Given the description of an element on the screen output the (x, y) to click on. 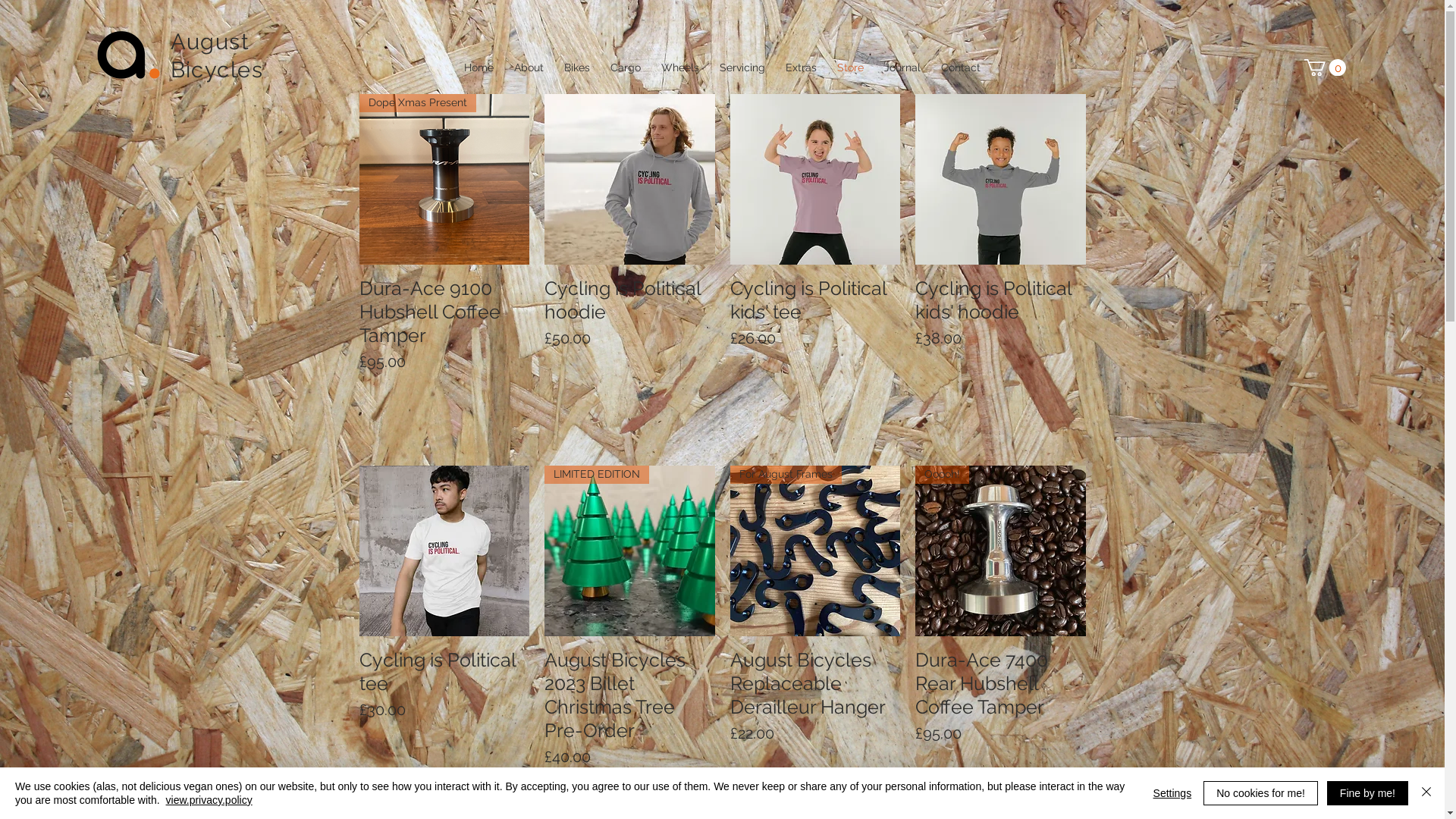
Cargo Element type: text (625, 67)
LIMITED EDITION Element type: text (629, 550)
Wheels Element type: text (679, 67)
Extras Element type: text (800, 67)
Fine by me! Element type: text (1367, 793)
Bikes Element type: text (576, 67)
view.privacy.policy Element type: text (209, 799)
No cookies for me! Element type: text (1260, 793)
Store Element type: text (849, 67)
0 Element type: text (1325, 67)
Journal Element type: text (901, 67)
Ooooh! Element type: text (1000, 550)
About Element type: text (528, 67)
Servicing Element type: text (742, 67)
For August Frames Element type: text (814, 550)
Home Element type: text (478, 67)
Contact Element type: text (961, 67)
Dope Xmas Present Element type: text (444, 179)
